Given the description of an element on the screen output the (x, y) to click on. 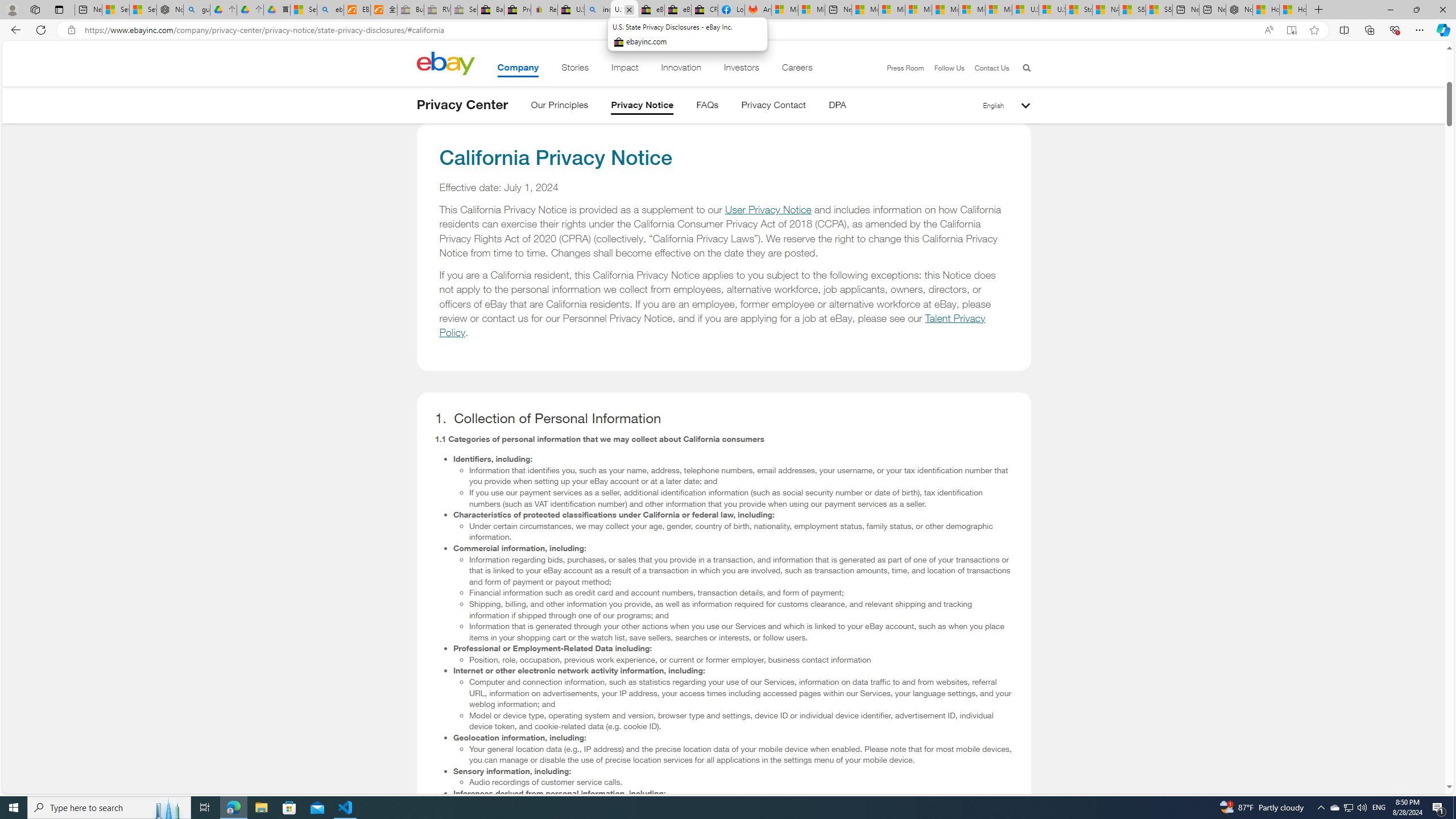
Register: Create a personal eBay account (543, 9)
Privacy Notice (642, 107)
Privacy Contact (773, 107)
including - Search (597, 9)
Audio recordings of customer service calls. (740, 781)
